Given the description of an element on the screen output the (x, y) to click on. 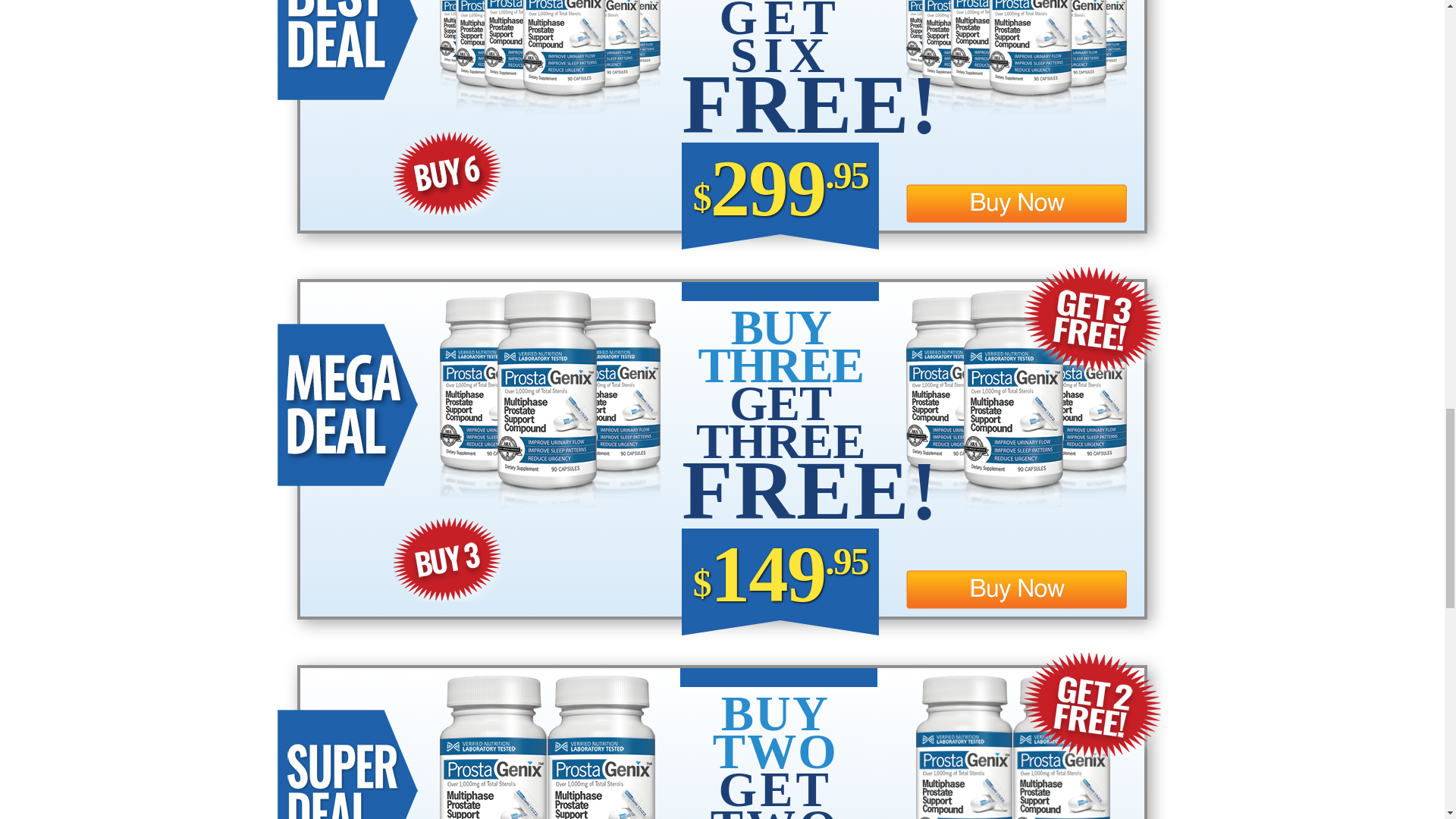
get 3 free (1091, 319)
buy now (1015, 589)
super deal (347, 764)
buy now (1015, 203)
buy 3 (446, 558)
best deal (347, 49)
buy 6 (446, 173)
get 2 free (1091, 705)
